Given the description of an element on the screen output the (x, y) to click on. 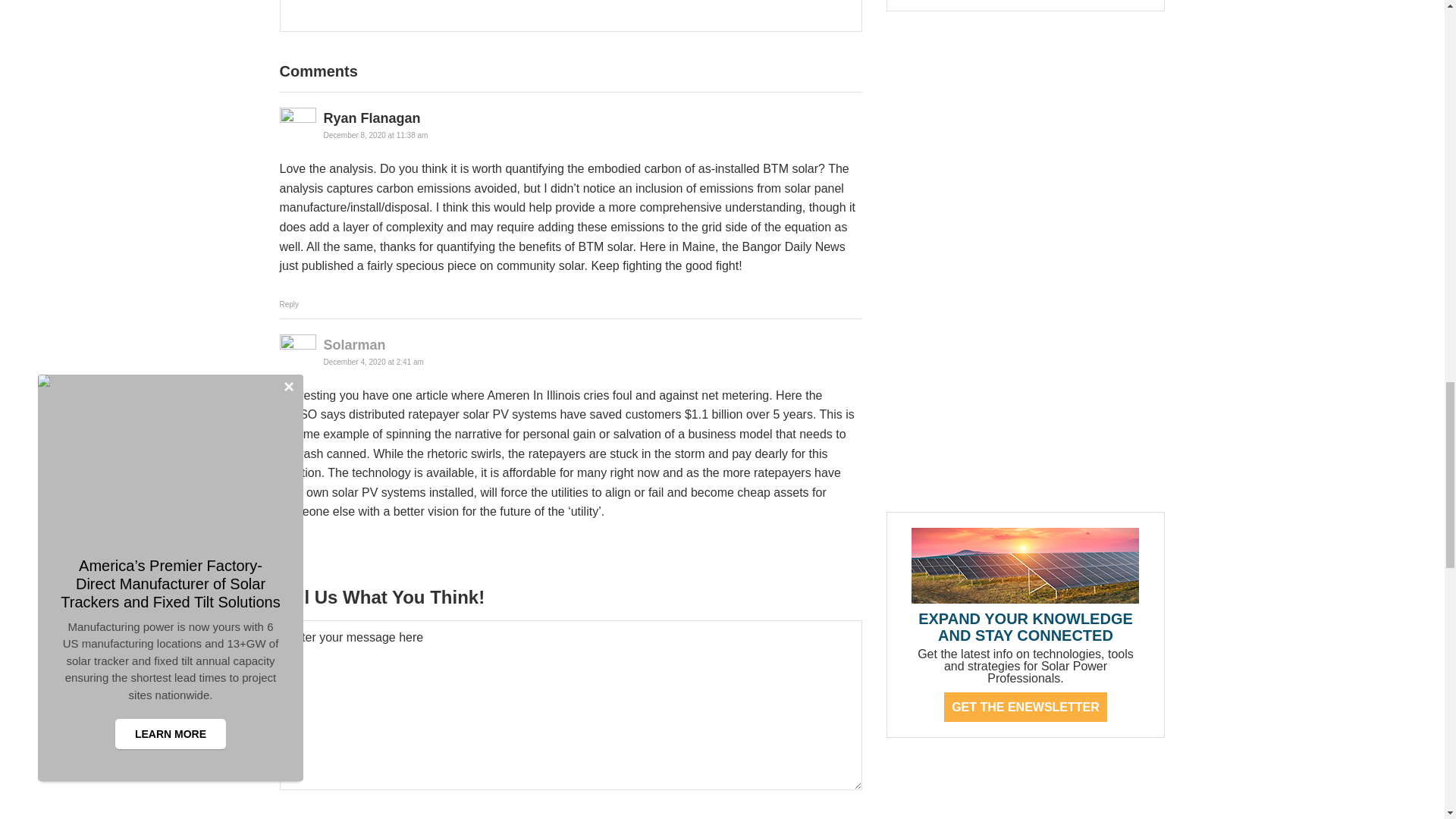
3rd party ad content (999, 789)
